Given the description of an element on the screen output the (x, y) to click on. 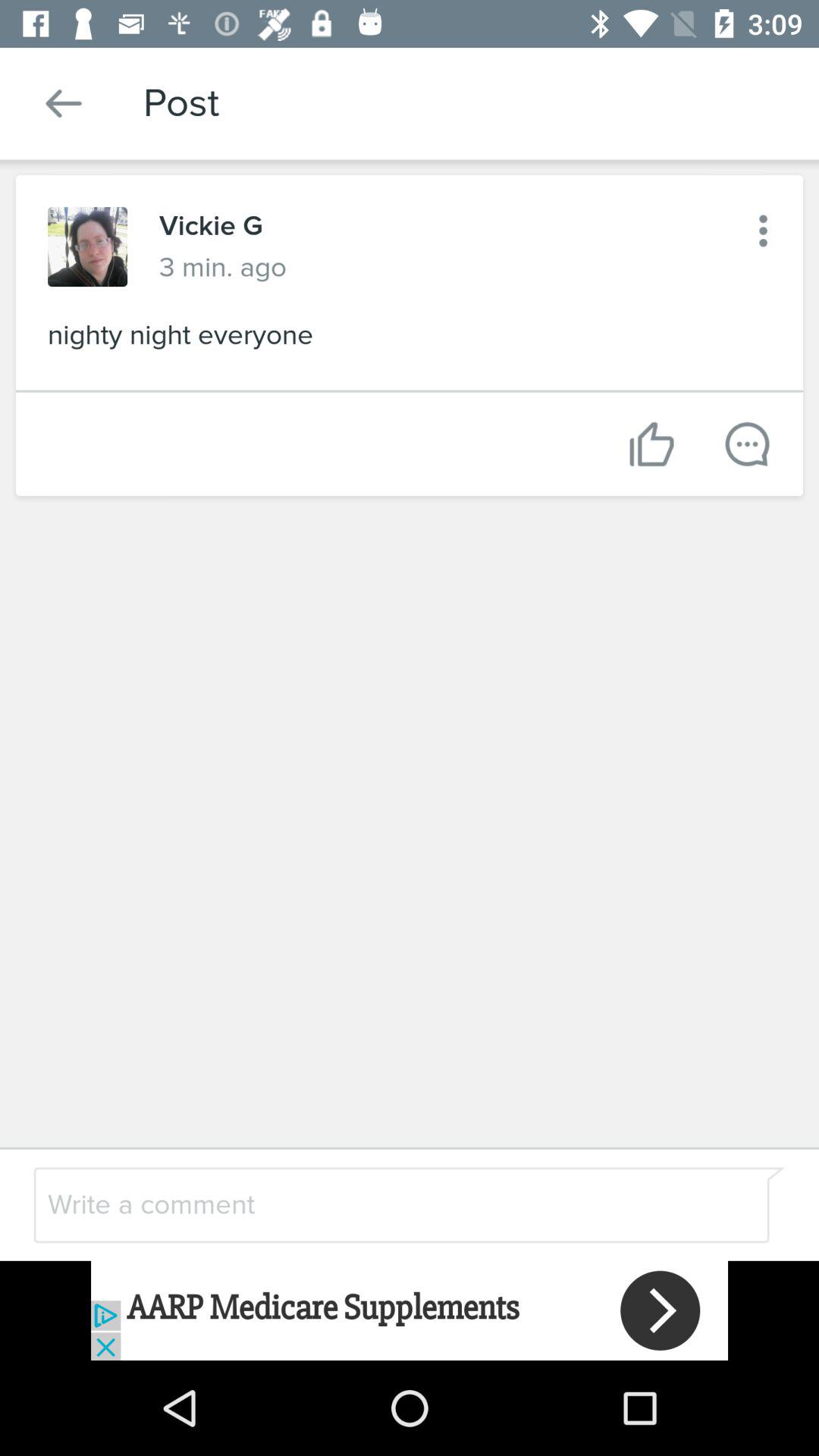
profile photo (87, 246)
